Given the description of an element on the screen output the (x, y) to click on. 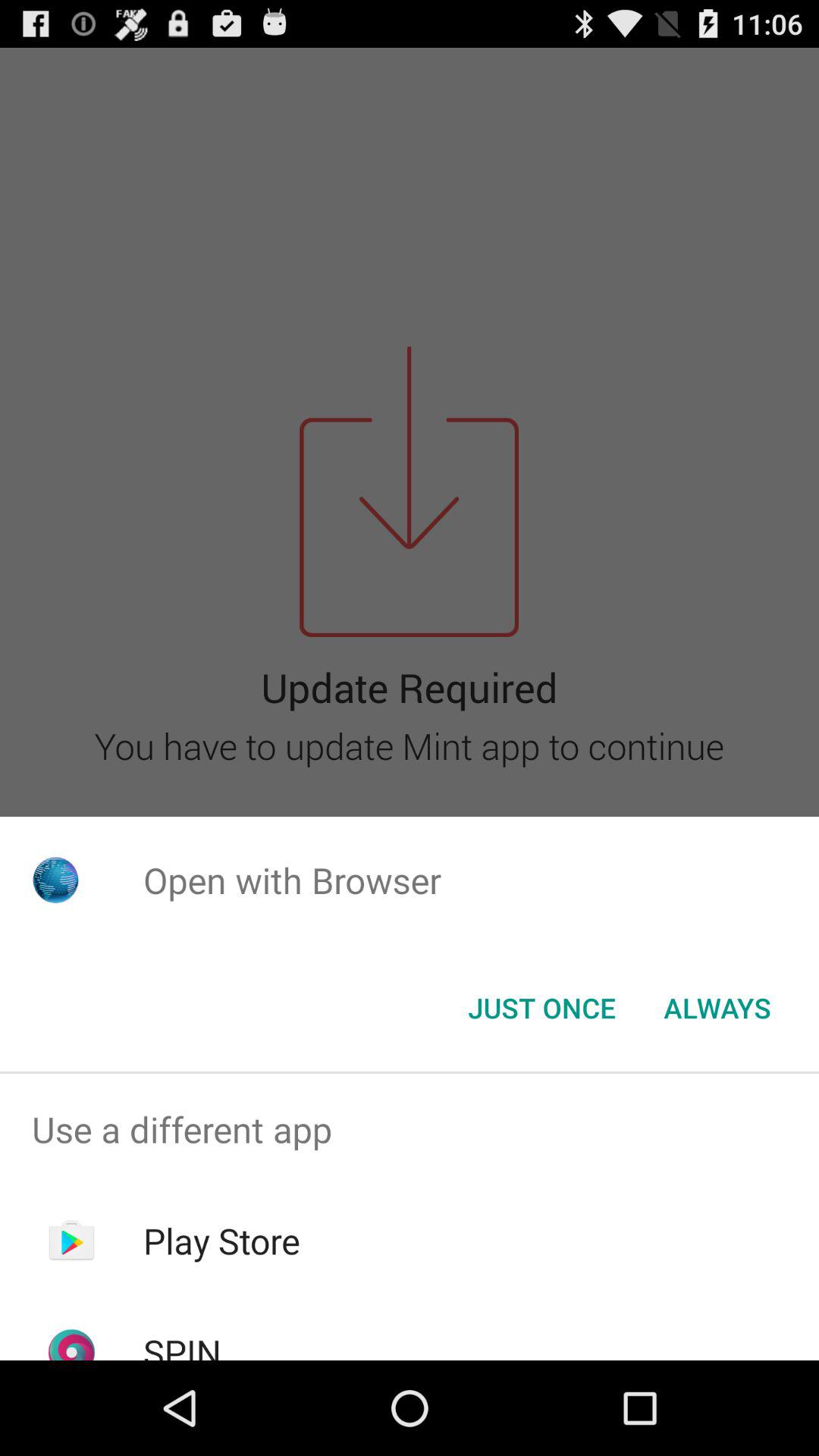
choose icon below open with browser icon (541, 1007)
